Given the description of an element on the screen output the (x, y) to click on. 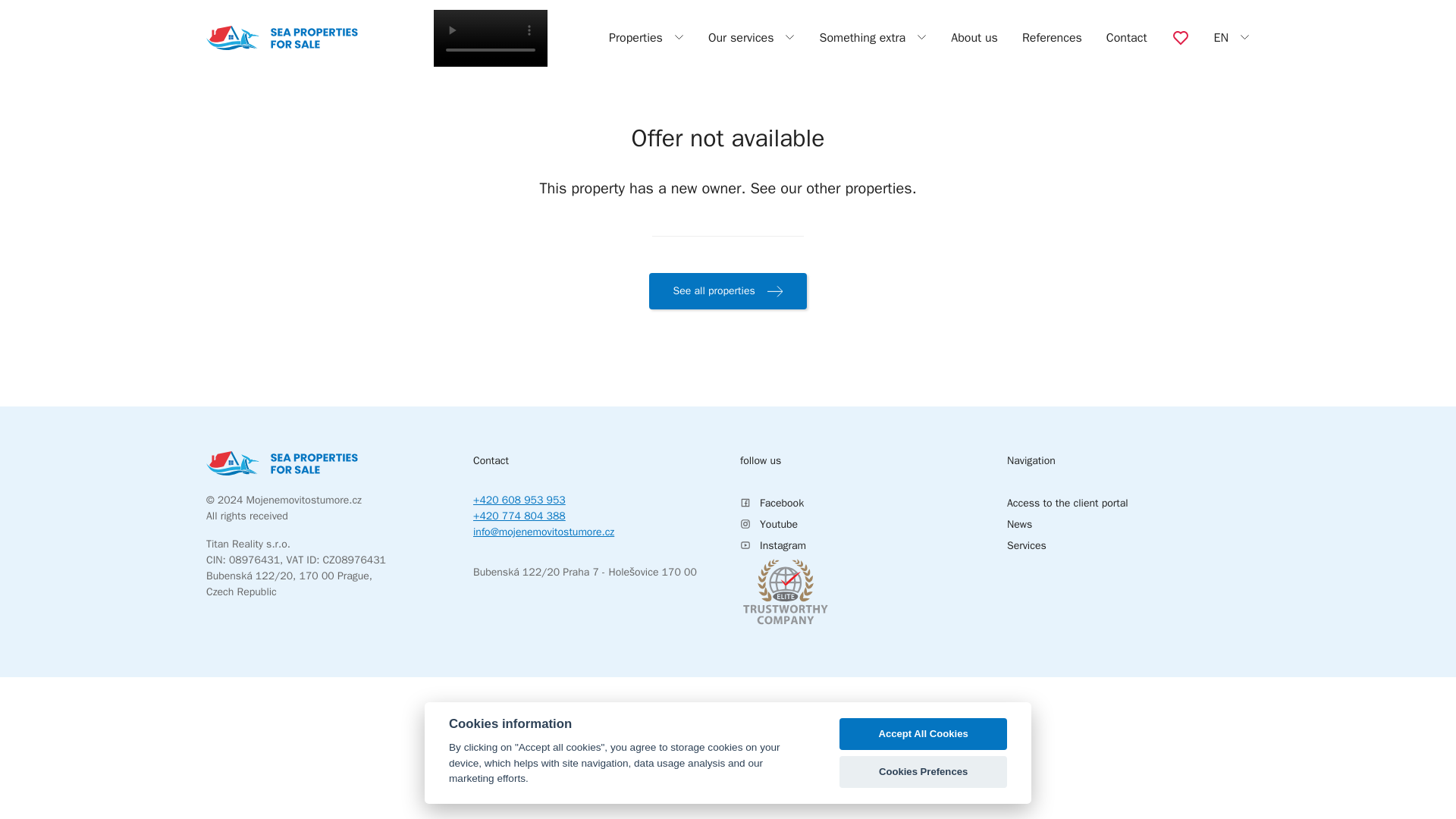
Something extra (872, 37)
Properties (646, 37)
Contact (1126, 37)
EN (1230, 37)
About us (973, 37)
Our services (750, 37)
References (1051, 37)
